Given the description of an element on the screen output the (x, y) to click on. 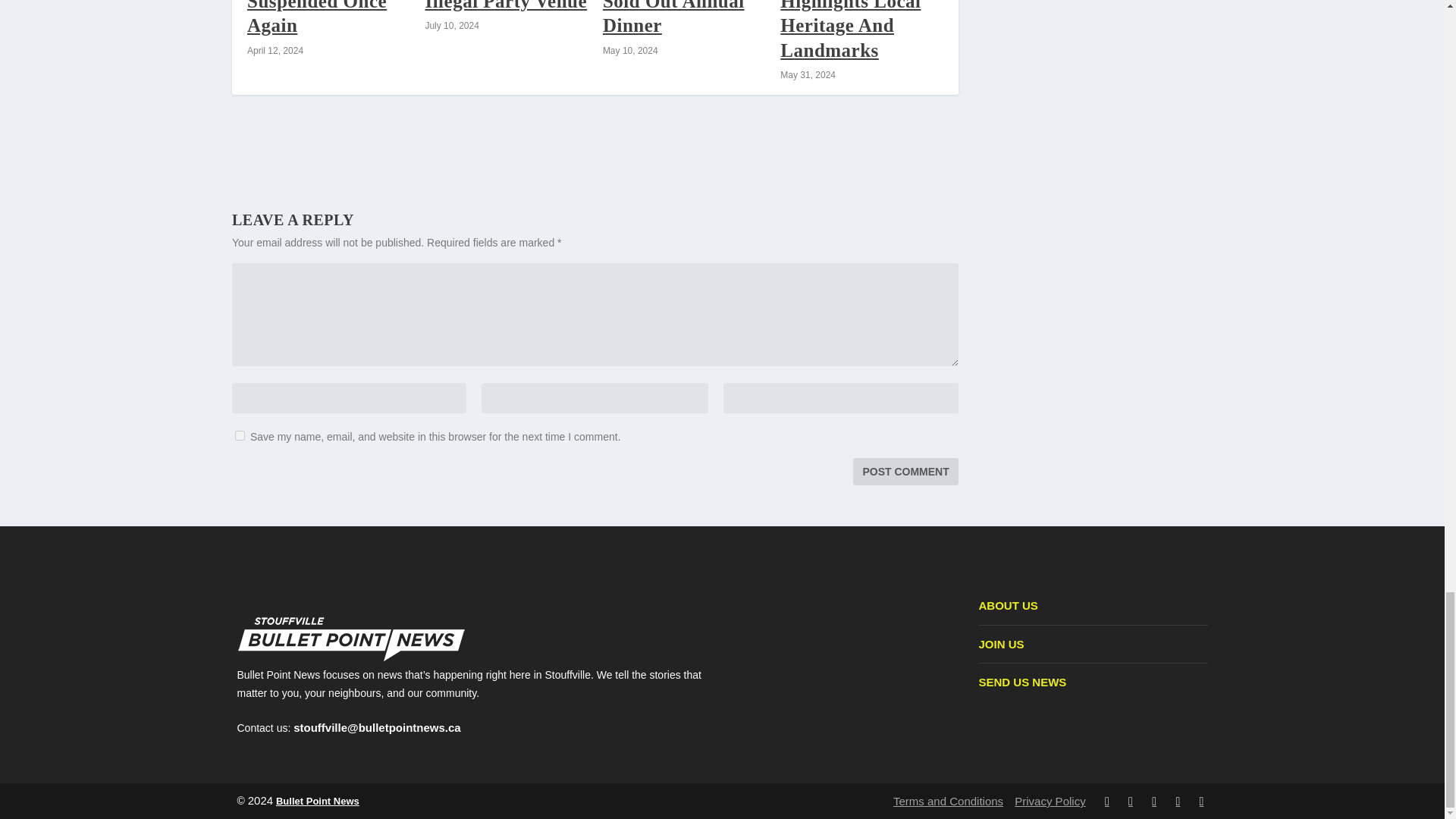
Post Comment (905, 471)
yes (239, 435)
